Given the description of an element on the screen output the (x, y) to click on. 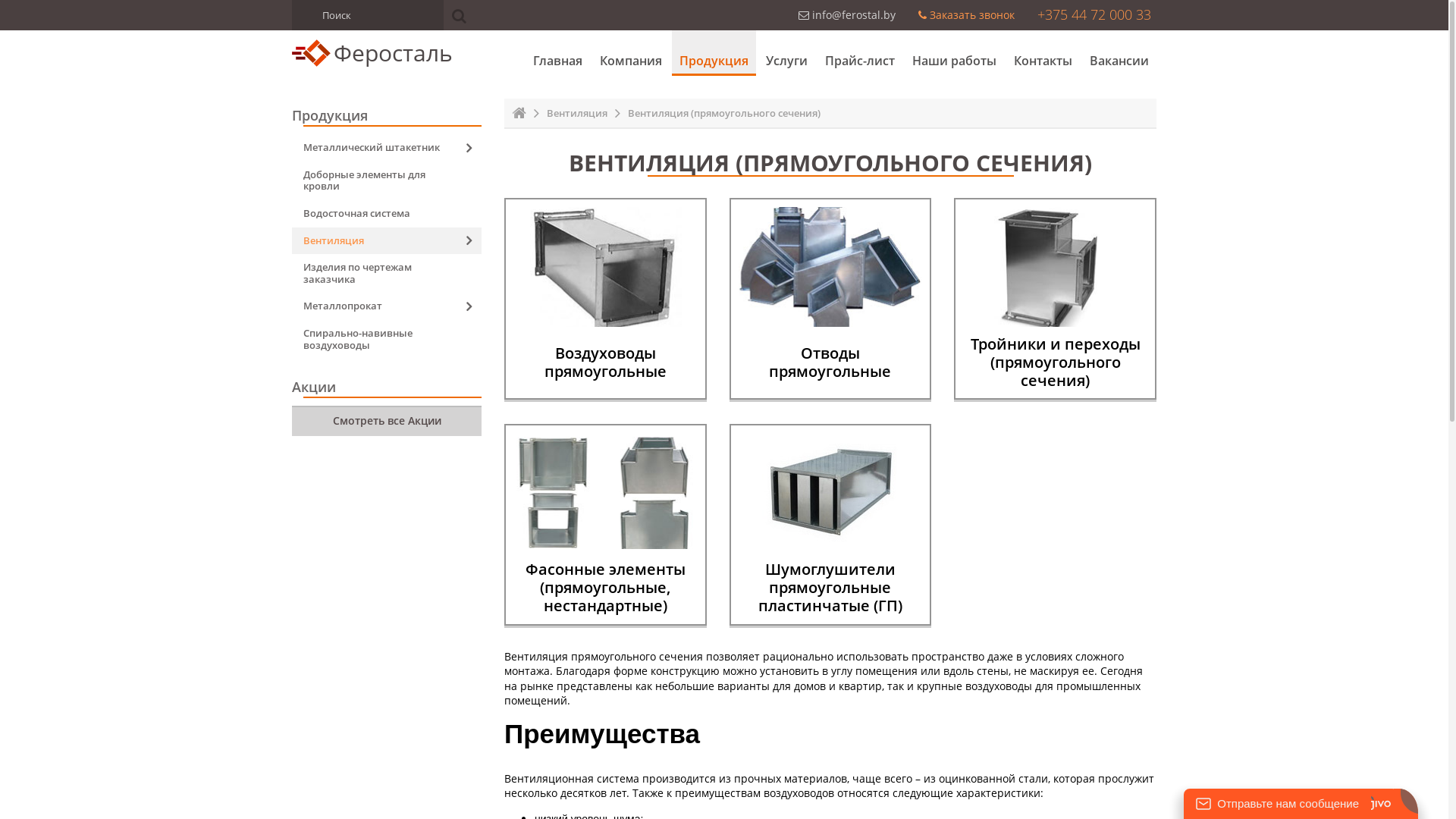
info@ferostal.by Element type: text (846, 14)
+375 44 72 000 33 Element type: text (1094, 14)
